Given the description of an element on the screen output the (x, y) to click on. 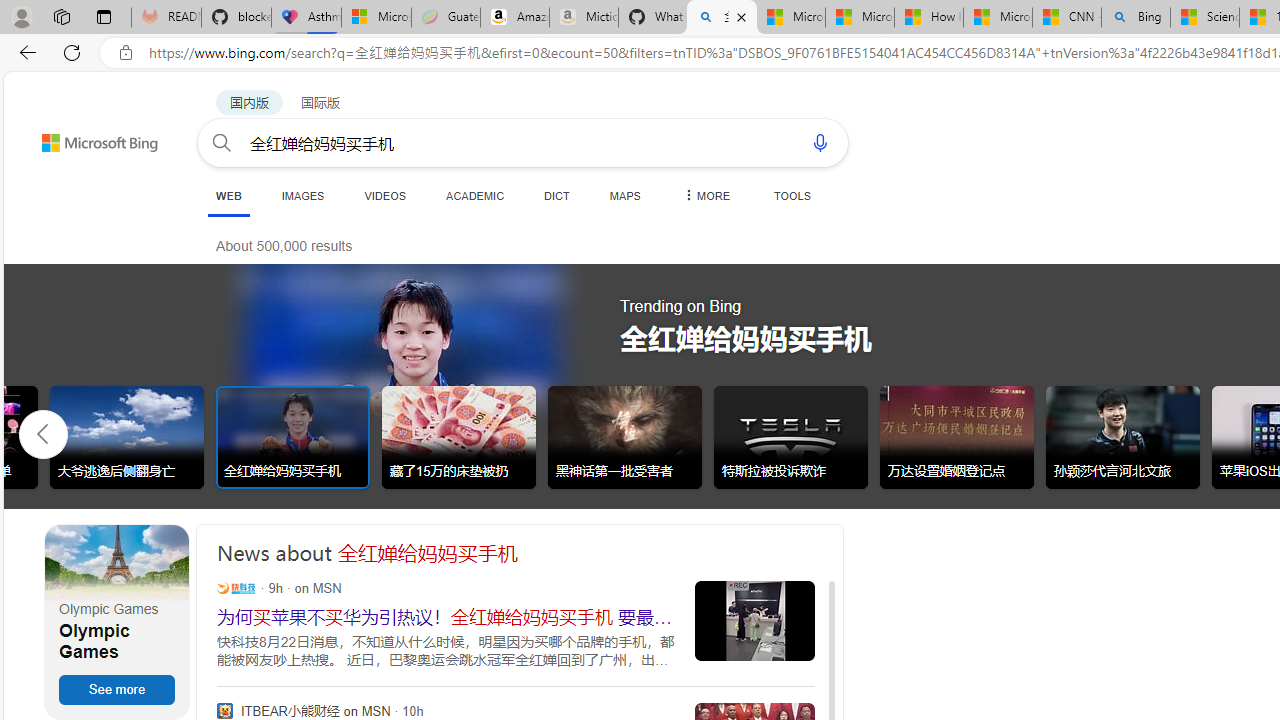
ACADEMIC (475, 195)
TOOLS (792, 195)
Search using voice (820, 142)
Back to Bing search (87, 138)
Search (221, 142)
IMAGES (302, 195)
AutomationID: tob_left_arrow (43, 433)
